Given the description of an element on the screen output the (x, y) to click on. 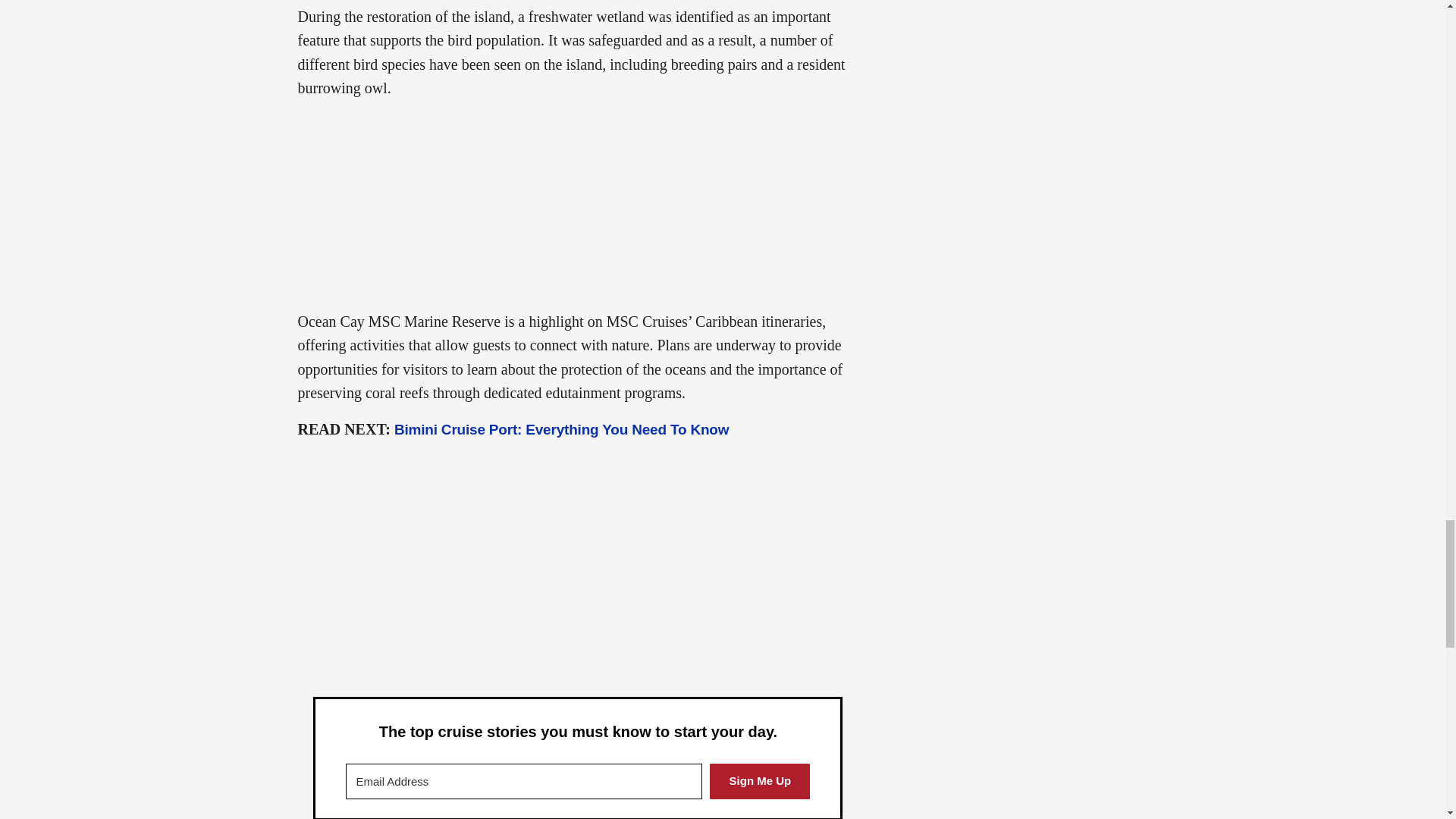
Bimini Cruise Port: Everything You Need To Know (561, 429)
